Given the description of an element on the screen output the (x, y) to click on. 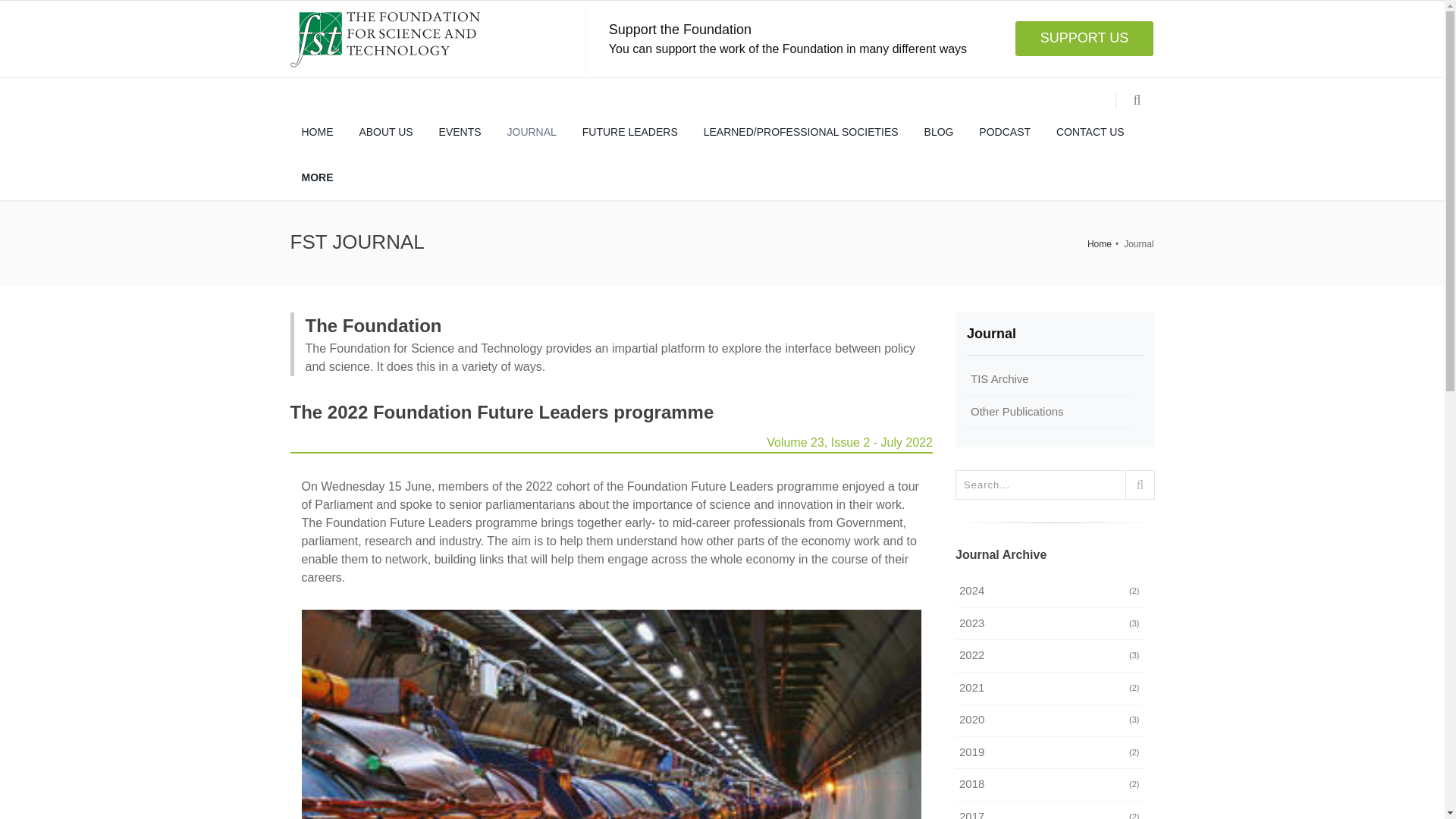
HOME (316, 131)
CONTACT US (1090, 131)
SUPPORT US (1083, 38)
ABOUT US (385, 131)
PODCAST (1005, 131)
MORE (316, 176)
FUTURE LEADERS (629, 131)
JOURNAL (531, 131)
EVENTS (460, 131)
BLOG (938, 131)
